Given the description of an element on the screen output the (x, y) to click on. 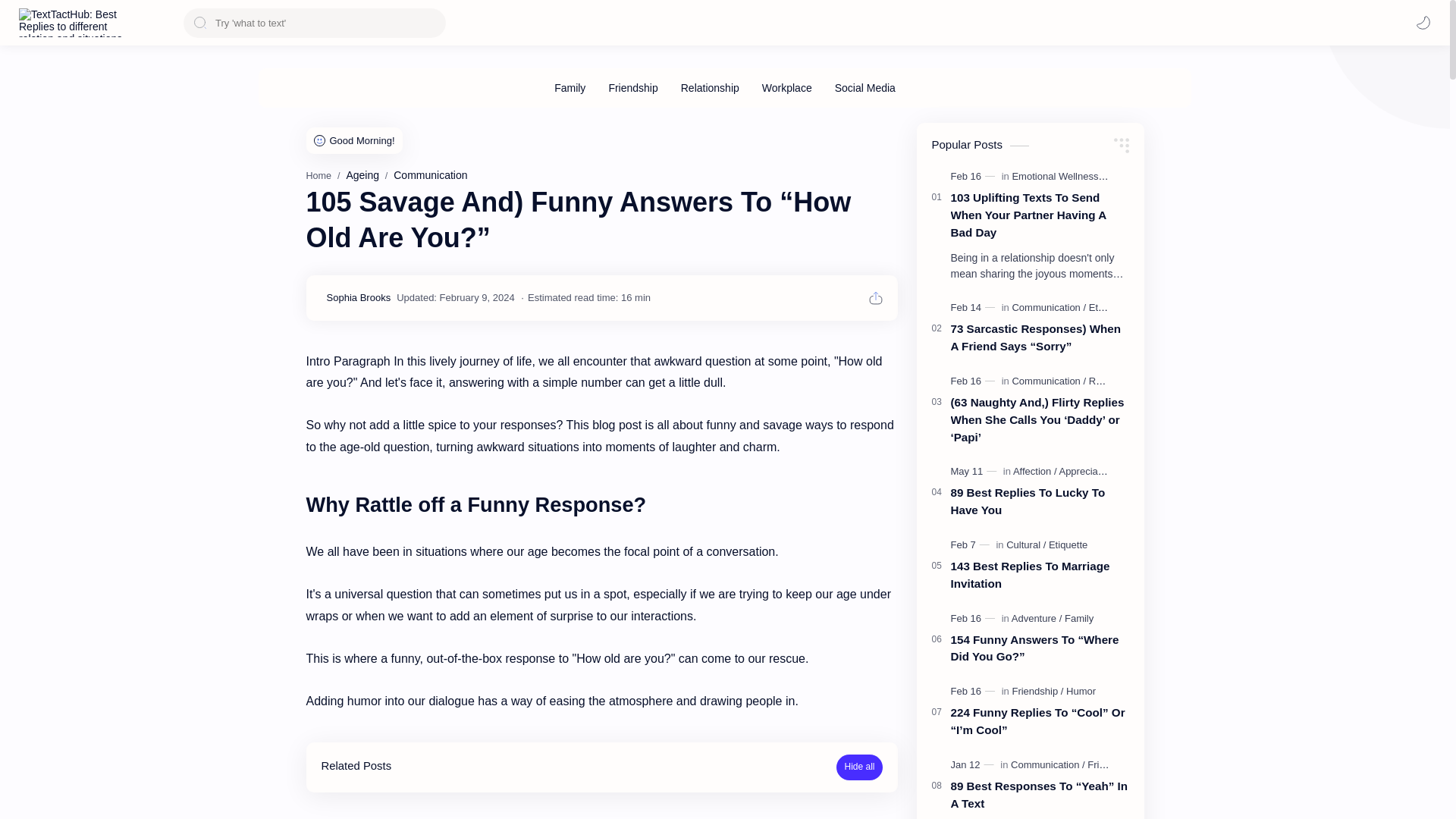
Published: February 14, 2024 (974, 307)
Published: February 16, 2024 (974, 691)
Ageing (362, 174)
Published: May 11, 2024 (975, 471)
Home (318, 175)
Published: February 16, 2024 (974, 176)
Published: January 12, 2024 (973, 765)
Communication (430, 174)
Published: February 16, 2024 (974, 381)
